Given the description of an element on the screen output the (x, y) to click on. 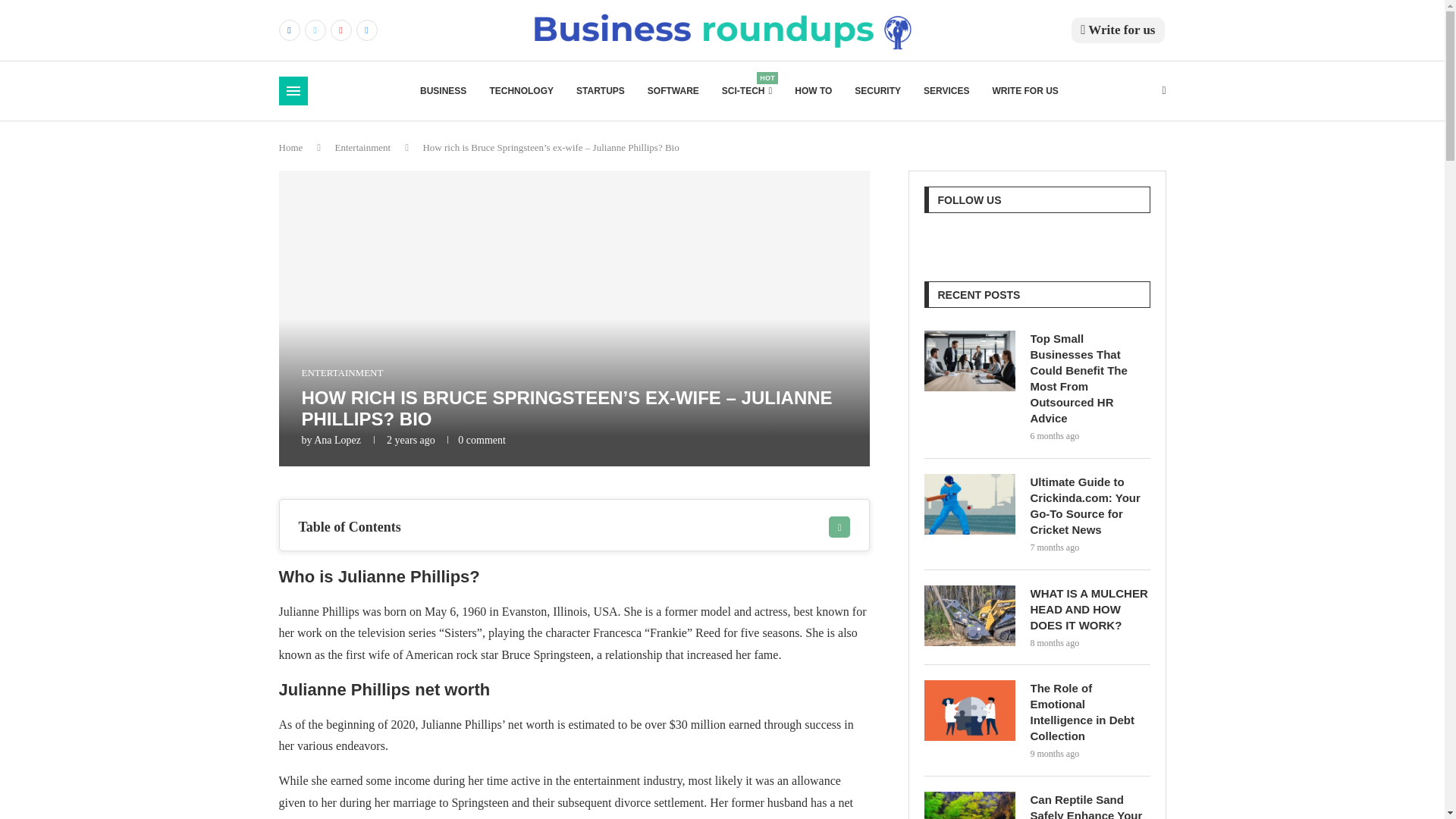
SECURITY (877, 90)
SOFTWARE (672, 90)
STARTUPS (600, 90)
BUSINESS (442, 90)
WRITE FOR US (1025, 90)
TECHNOLOGY (521, 90)
SERVICES (746, 90)
Write for us (946, 90)
